Given the description of an element on the screen output the (x, y) to click on. 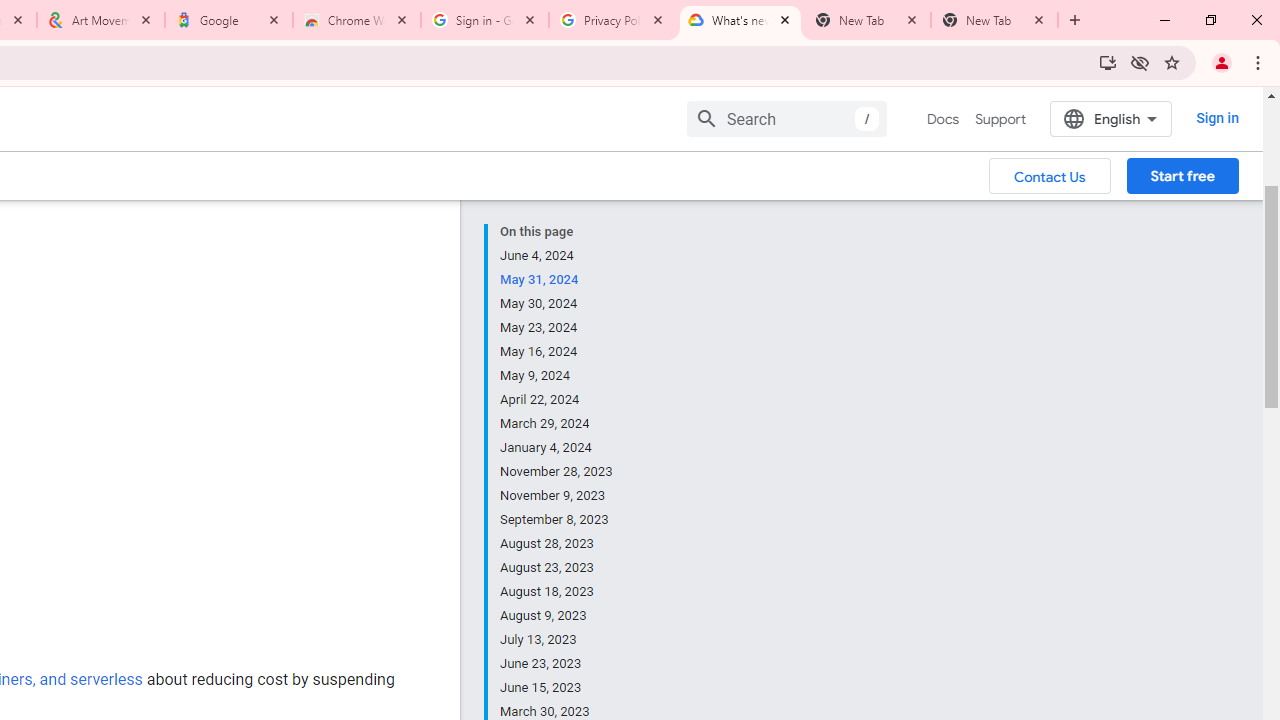
March 29, 2024 (557, 423)
May 9, 2024 (557, 376)
Support (1000, 119)
English (1110, 118)
June 15, 2023 (557, 687)
May 16, 2024 (557, 351)
June 23, 2023 (557, 664)
Docs, selected (942, 119)
June 4, 2024 (557, 255)
January 4, 2024 (557, 448)
Contact Us (1050, 175)
New Tab (994, 20)
